Given the description of an element on the screen output the (x, y) to click on. 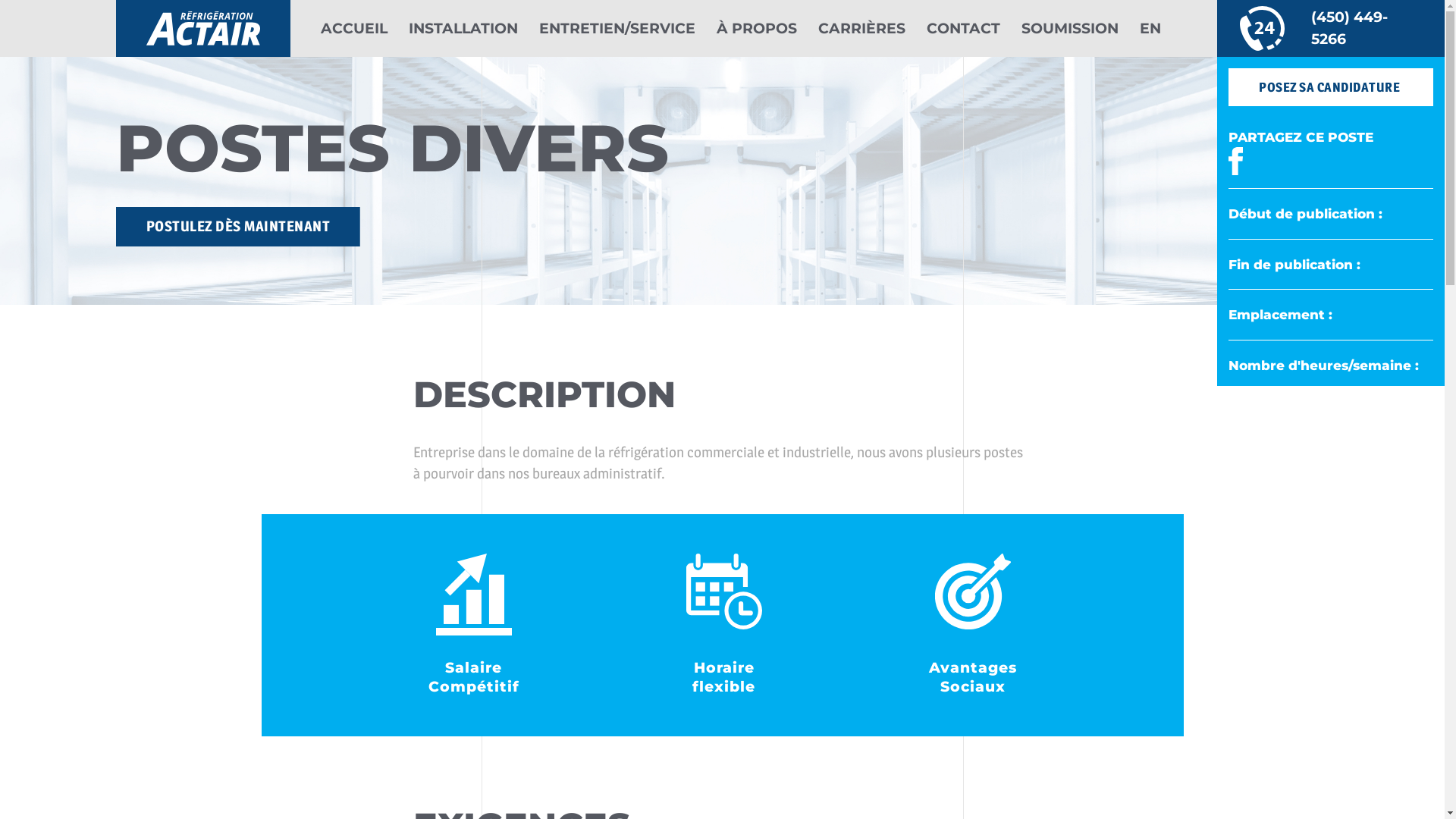
ACCUEIL Element type: text (353, 28)
ENTRETIEN/SERVICE Element type: text (616, 28)
EN Element type: text (1149, 28)
SOUMISSION Element type: text (1068, 28)
CONTACT Element type: text (963, 28)
(450) 449-5266 Element type: text (1330, 28)
POSEZ SA CANDIDATURE Element type: text (1330, 87)
INSTALLATION Element type: text (462, 28)
